Given the description of an element on the screen output the (x, y) to click on. 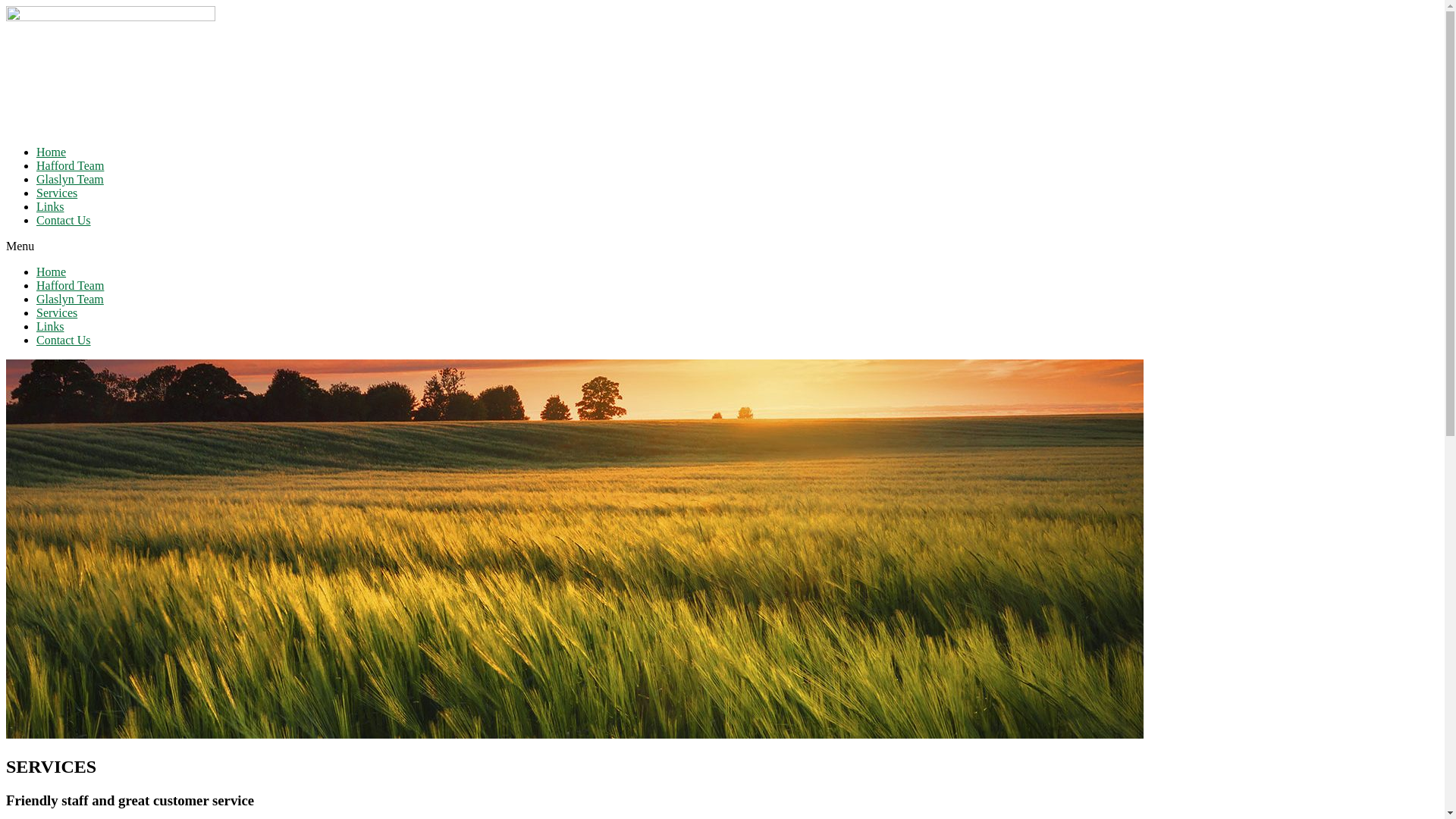
Services Element type: text (56, 312)
Skip to content Element type: text (5, 5)
Services Element type: text (56, 192)
Hafford Team Element type: text (69, 165)
Hafford Team Element type: text (69, 285)
Glaslyn Team Element type: text (69, 178)
farm-scene-5 Element type: hover (574, 548)
Links Element type: text (49, 206)
Home Element type: text (50, 271)
Contact Us Element type: text (63, 339)
Links Element type: text (49, 326)
Glaslyn Team Element type: text (69, 298)
Contact Us Element type: text (63, 219)
Home Element type: text (50, 151)
